Given the description of an element on the screen output the (x, y) to click on. 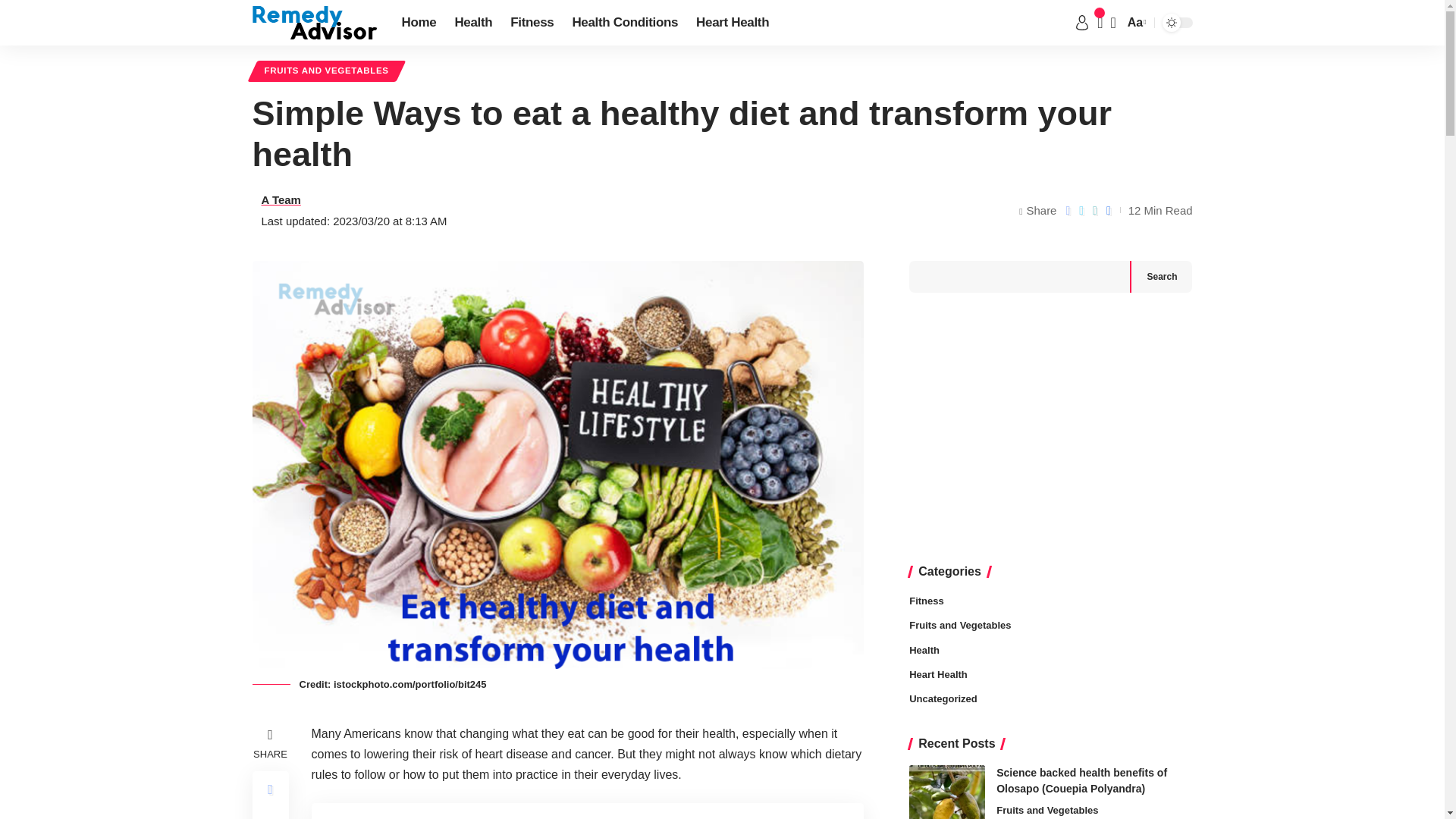
Home (419, 22)
Health Conditions (624, 22)
Remedy Advisor (314, 22)
Aa (1135, 22)
Heart Health (732, 22)
Fitness (531, 22)
Advertisement (1050, 428)
Health (472, 22)
